Given the description of an element on the screen output the (x, y) to click on. 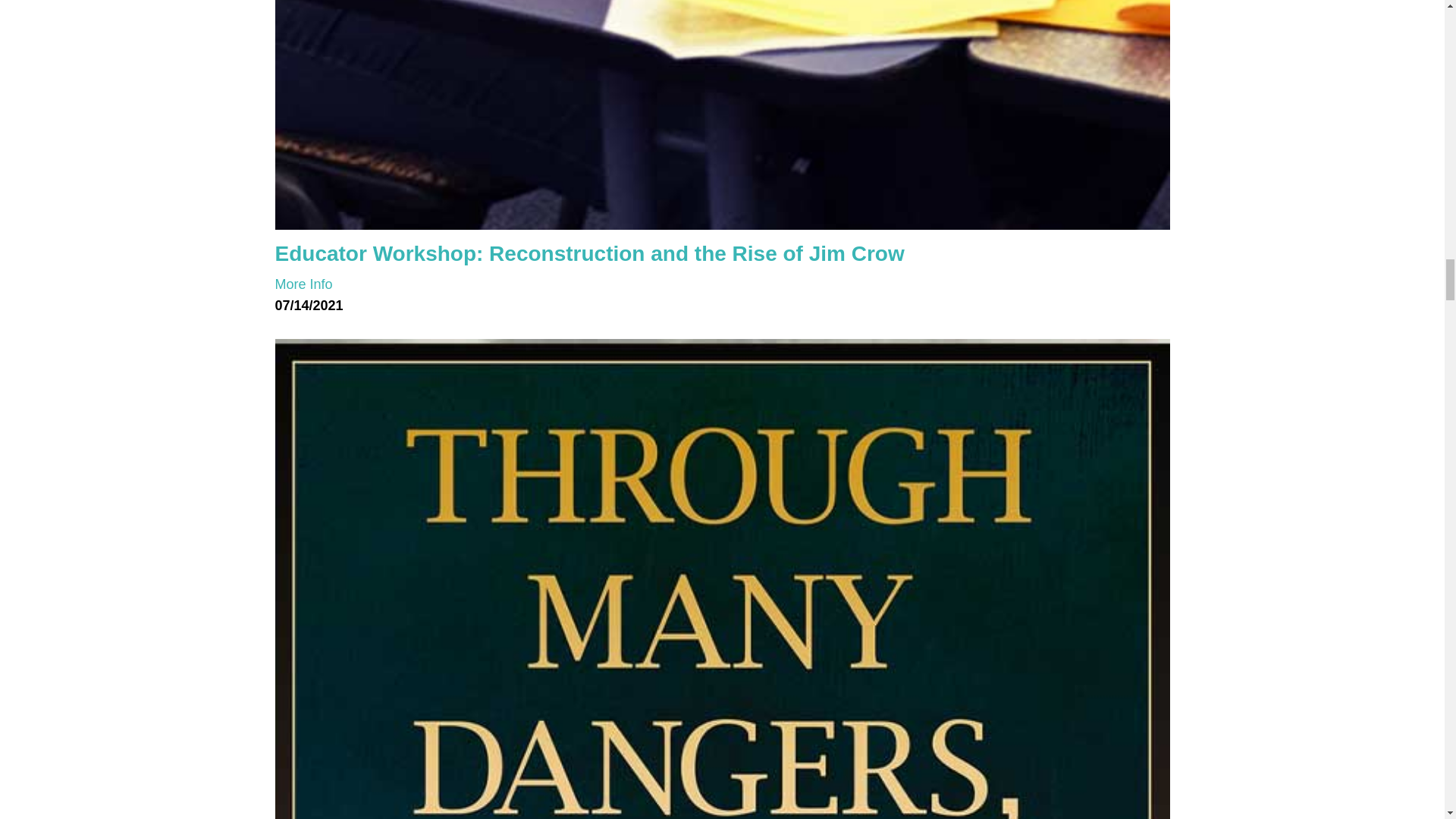
Educator Workshop: Reconstruction and the Rise of Jim Crow (303, 283)
Educator Workshop: Reconstruction and the Rise of Jim Crow (589, 253)
